Given the description of an element on the screen output the (x, y) to click on. 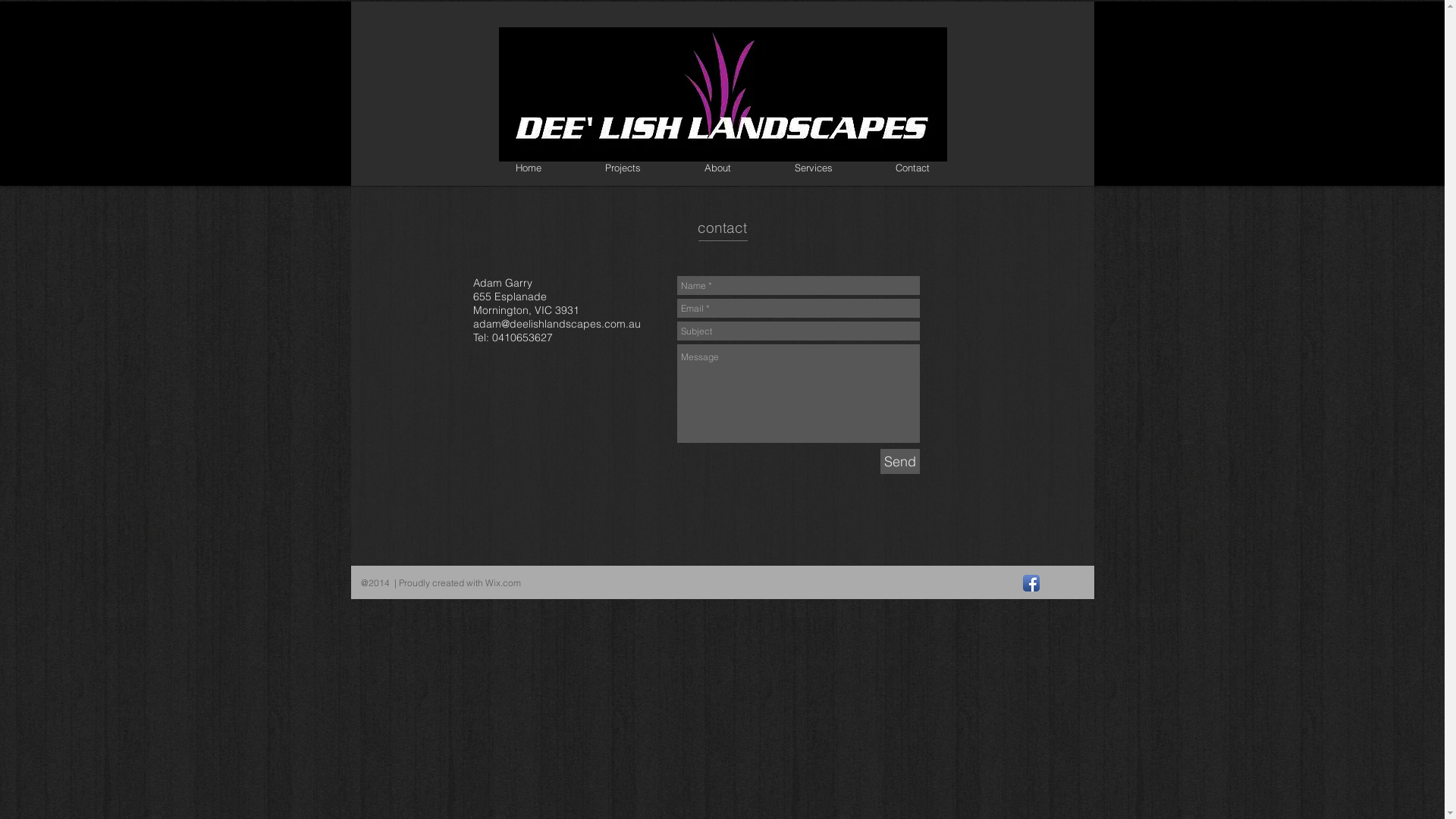
Services Element type: text (813, 167)
Wix.com Element type: text (502, 582)
Contact Element type: text (912, 167)
About Element type: text (716, 167)
Home Element type: text (528, 167)
Edited Image 2014-5-25-19:45:39 Element type: hover (722, 94)
Send Element type: text (899, 460)
adam@deelishlandscapes.com.au Element type: text (556, 323)
Projects Element type: text (622, 167)
